Given the description of an element on the screen output the (x, y) to click on. 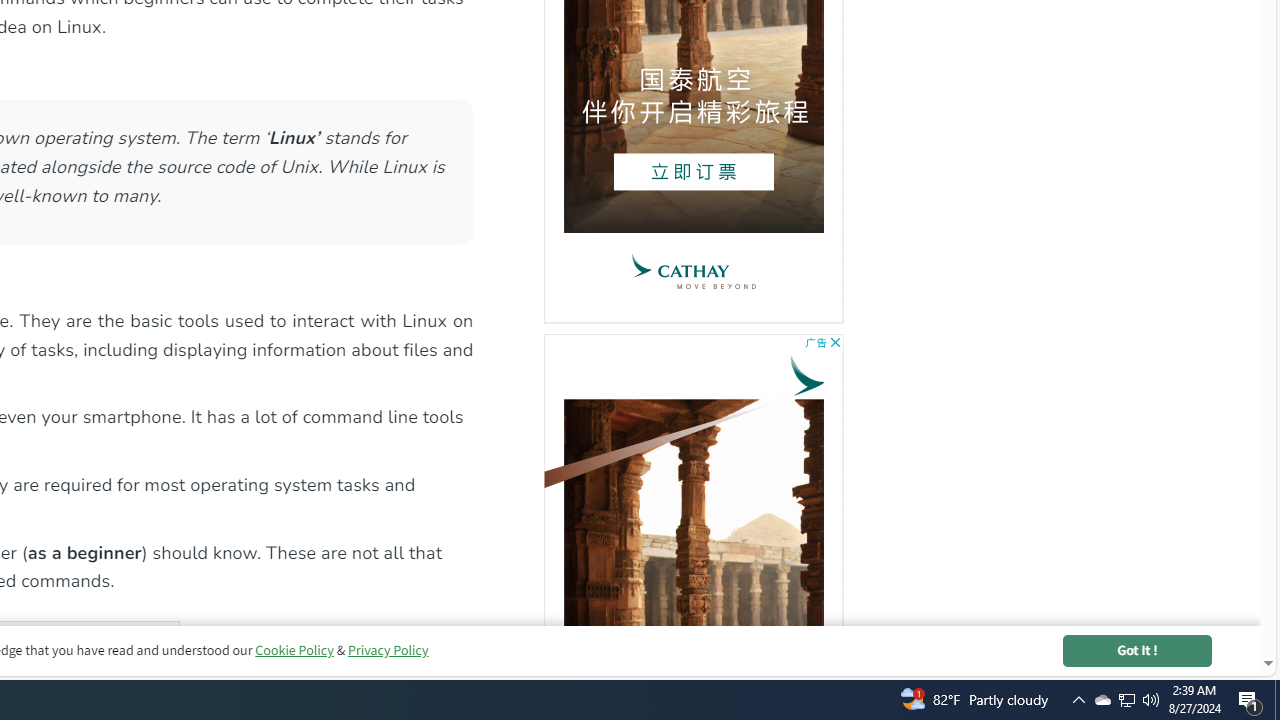
Got It ! (1137, 650)
AutomationID: cbb (834, 341)
Privacy Policy (387, 650)
Cookie Policy (294, 650)
